Given the description of an element on the screen output the (x, y) to click on. 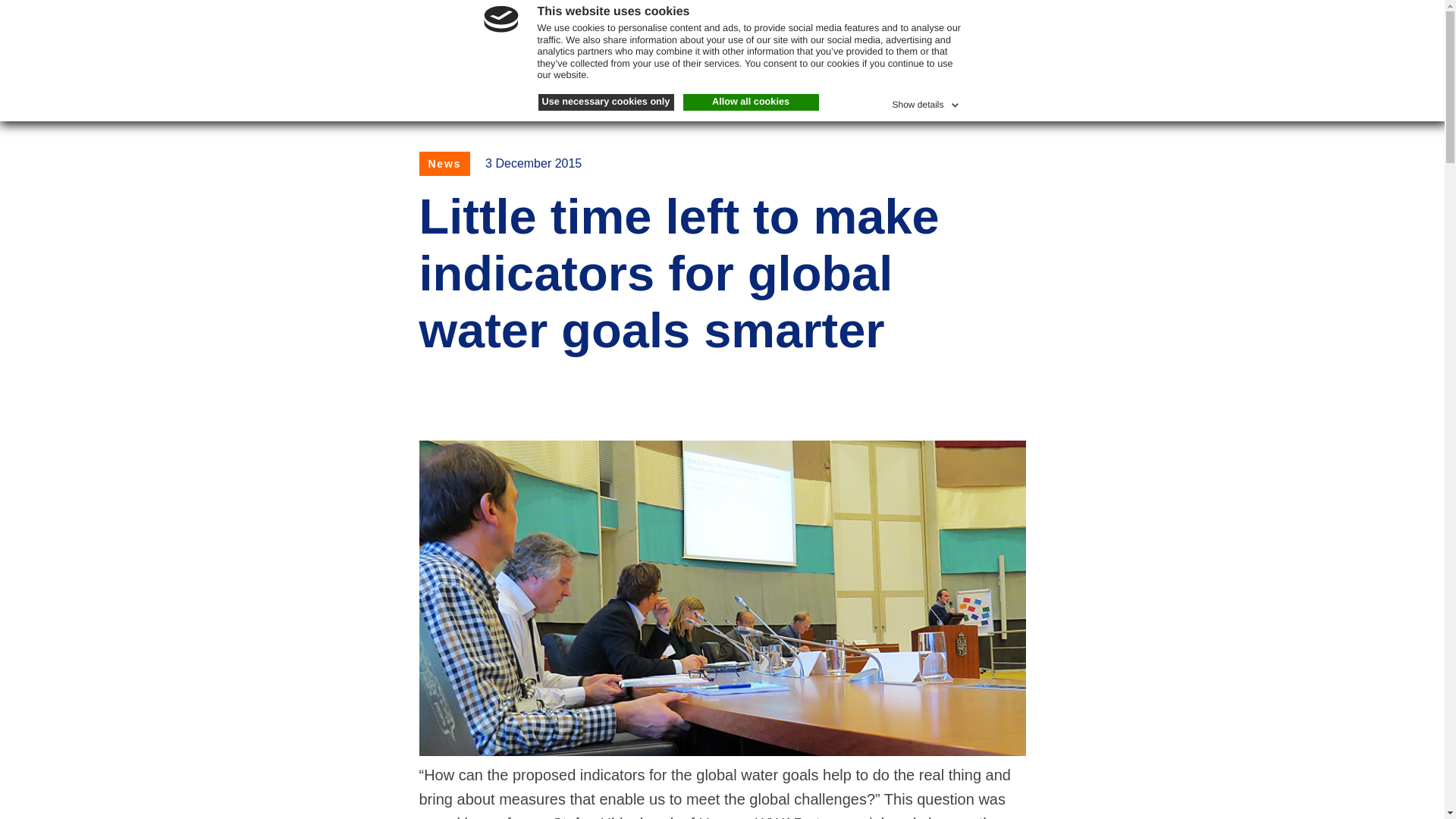
Show details (925, 102)
Allow all cookies (750, 102)
Use necessary cookies only (606, 102)
